Given the description of an element on the screen output the (x, y) to click on. 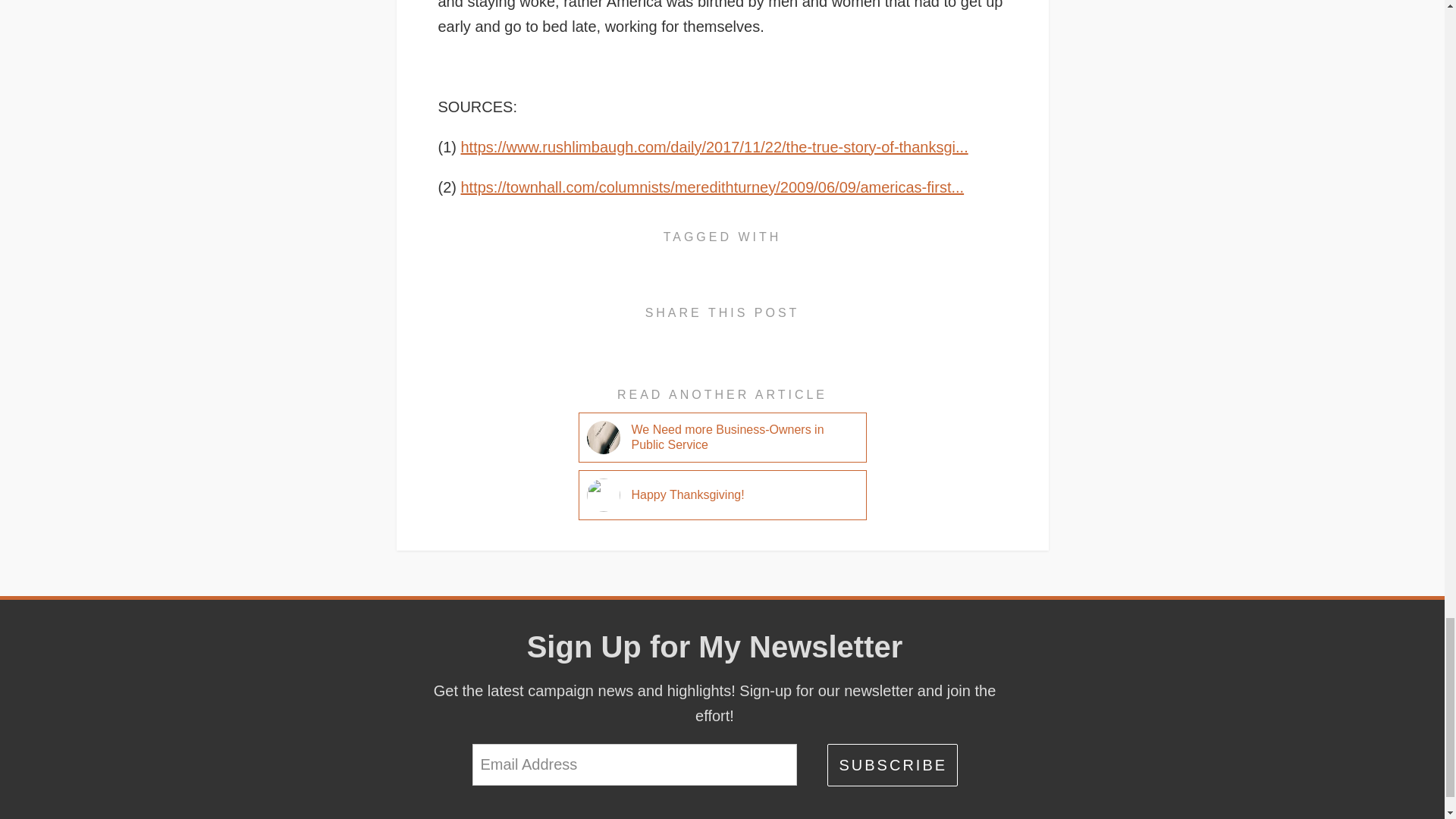
Google Plus (703, 338)
Subscribe (891, 764)
LinkedIn (741, 338)
We Need more Business-Owners in Public Service (732, 438)
Happy Thanksgiving! (687, 495)
Share this Post Google Plus (703, 338)
Facebook (665, 338)
Twitter (779, 338)
Share this Post LinkedIn (741, 338)
